Given the description of an element on the screen output the (x, y) to click on. 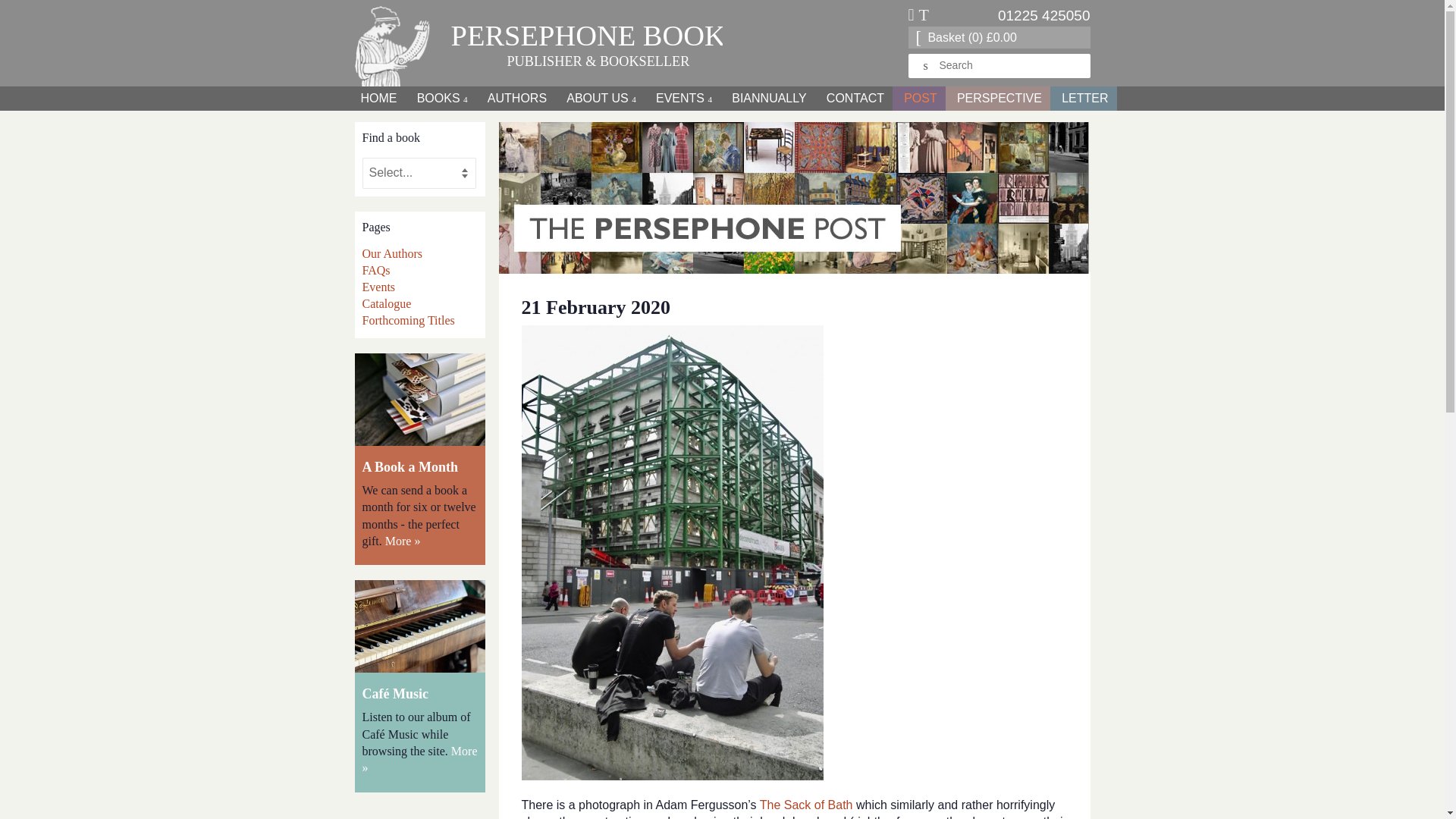
01225 425050 (1043, 15)
SEARCH (926, 66)
